Given the description of an element on the screen output the (x, y) to click on. 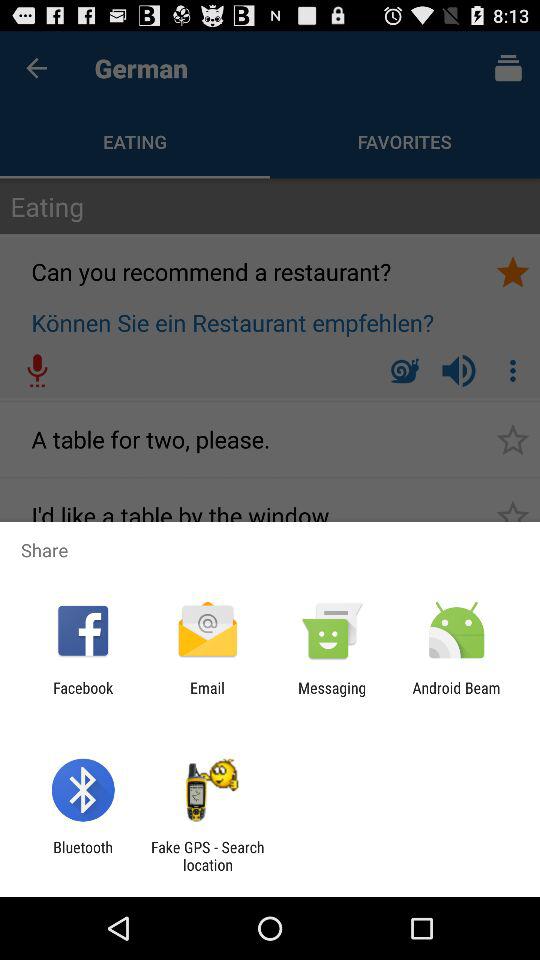
tap the icon to the right of the messaging (456, 696)
